Given the description of an element on the screen output the (x, y) to click on. 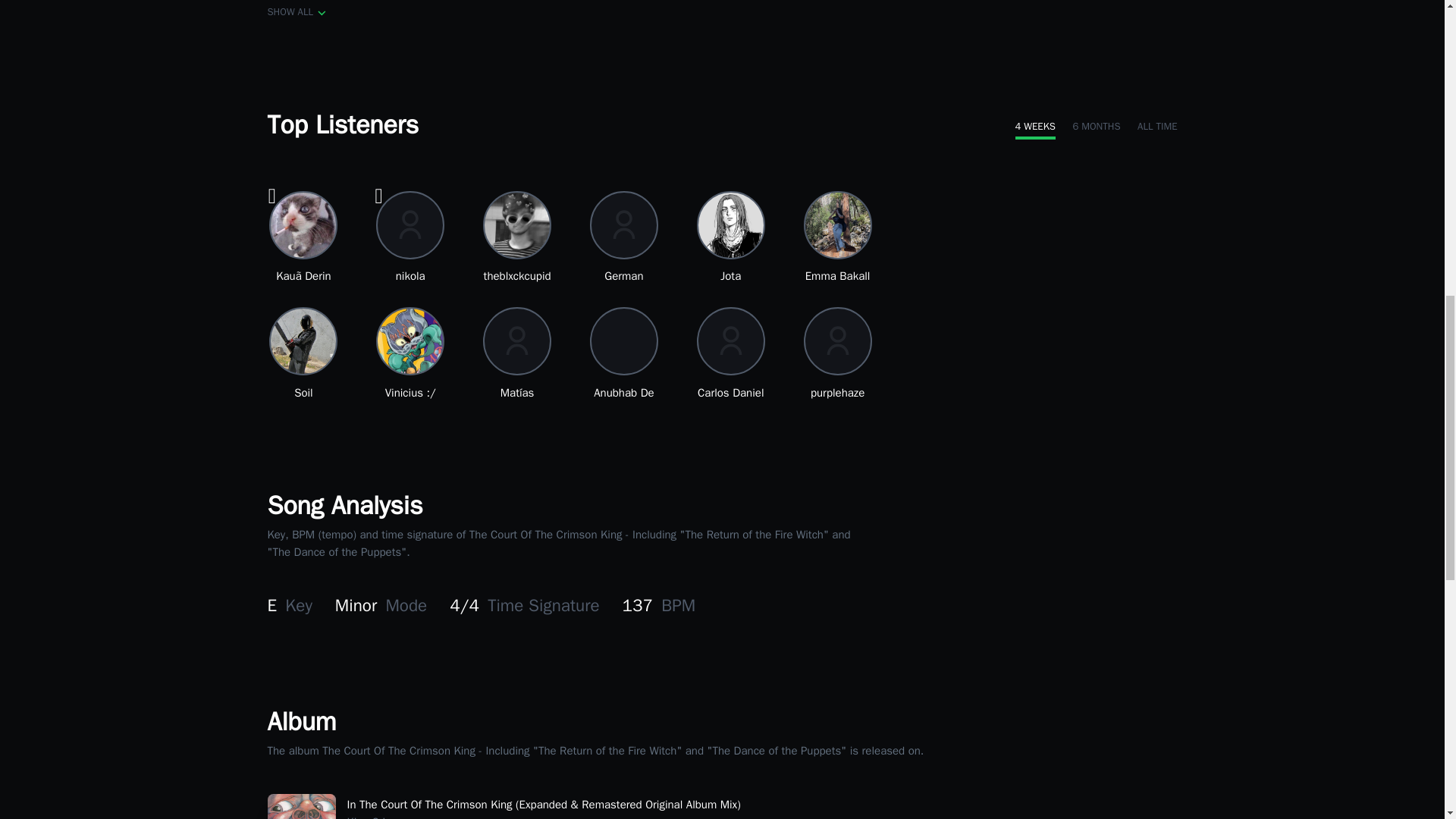
4 WEEKS (1034, 128)
SHOW ALL (297, 12)
ALL TIME (1156, 128)
King Crimson (380, 816)
6 MONTHS (1095, 128)
